Given the description of an element on the screen output the (x, y) to click on. 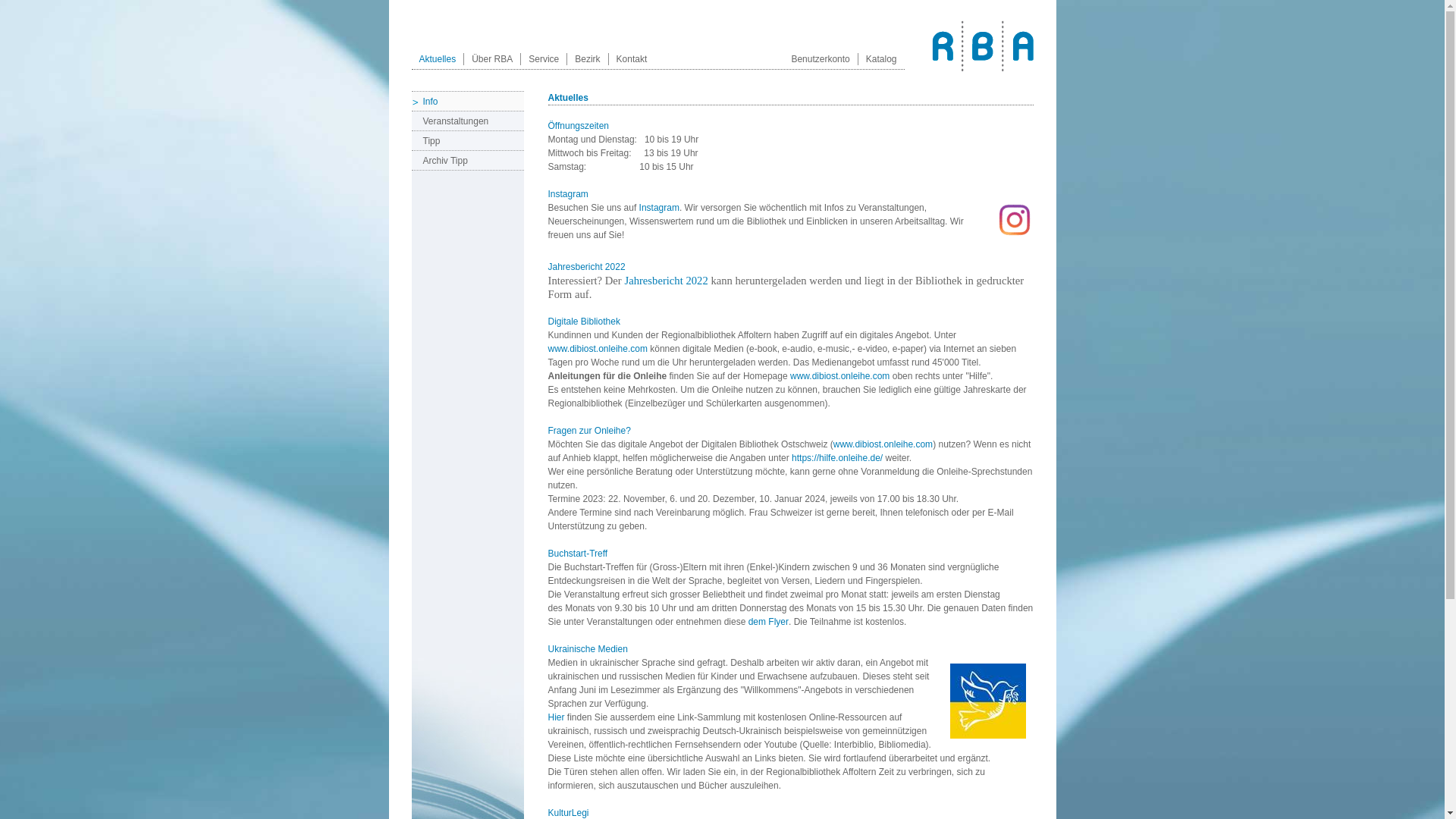
www.dibiost.onleihe.com Element type: text (882, 444)
Info Element type: text (467, 100)
Jahresbericht 2022 Element type: text (665, 280)
Service Element type: text (543, 59)
Veranstaltungen Element type: text (467, 120)
Katalog Element type: text (881, 59)
Tipp Element type: text (467, 140)
www.dibiost.onleihe.com Element type: text (839, 375)
Kontakt Element type: text (631, 59)
Aktuelles Element type: text (436, 59)
dem Flyer Element type: text (768, 621)
Instagram Element type: text (659, 207)
Benutzerkonto Element type: text (819, 59)
Archiv Tipp Element type: text (467, 159)
Bezirk Element type: text (586, 59)
www.dibiost.onleihe.com Element type: text (596, 348)
https://hilfe.onleihe.de/ Element type: text (836, 457)
Hier Element type: text (556, 717)
